Given the description of an element on the screen output the (x, y) to click on. 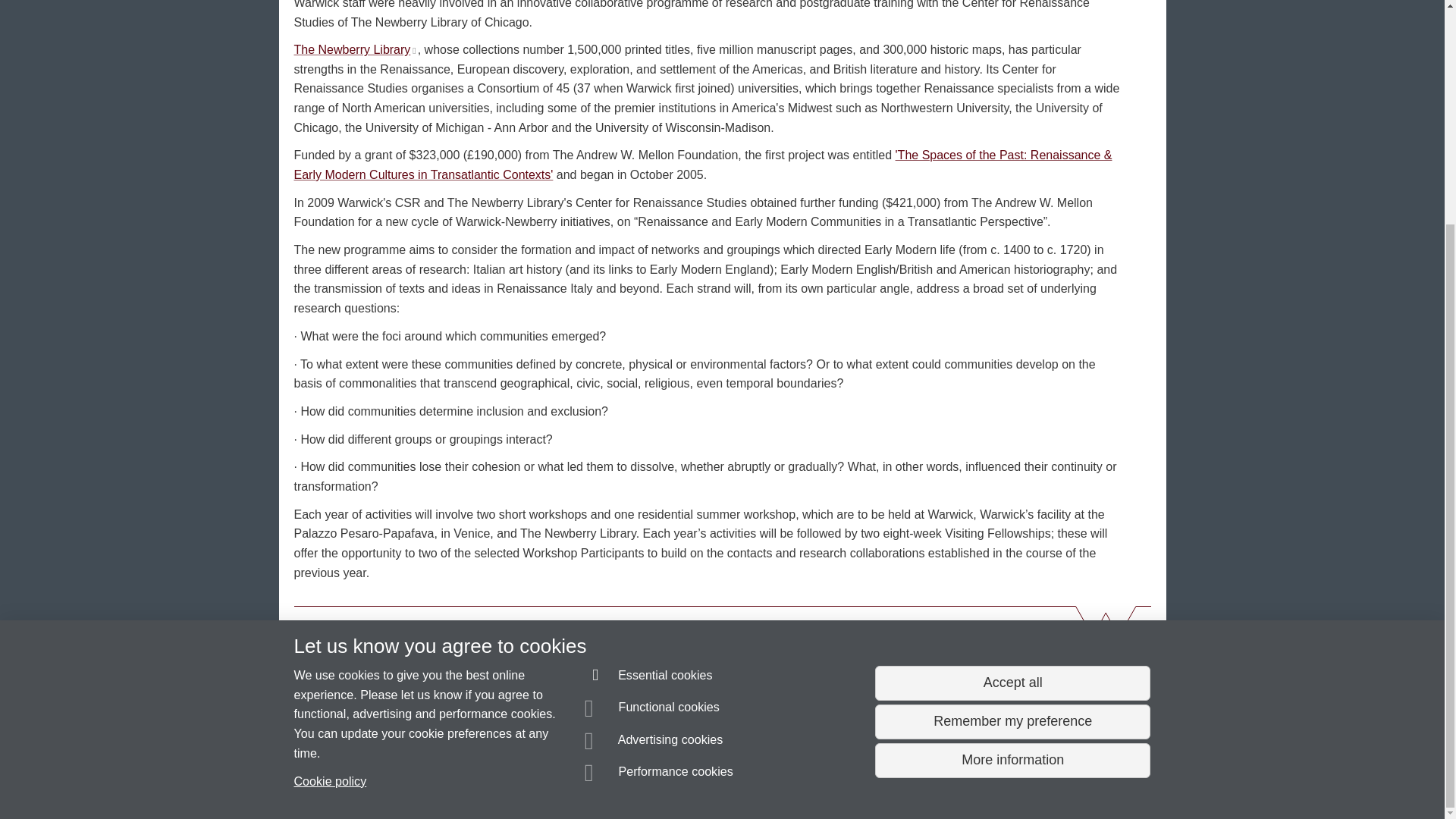
Accept all functional, advertising and performance cookies (1012, 383)
Copyright Statement (514, 780)
More information about SiteBuilder (365, 780)
Centre for the Study of the Renaissance on Twitter (938, 659)
Essential cookies are always on (649, 377)
Send an email to Jayne Sweet (377, 751)
Centre for the Study of the Renaissance on Facebook (895, 659)
